Given the description of an element on the screen output the (x, y) to click on. 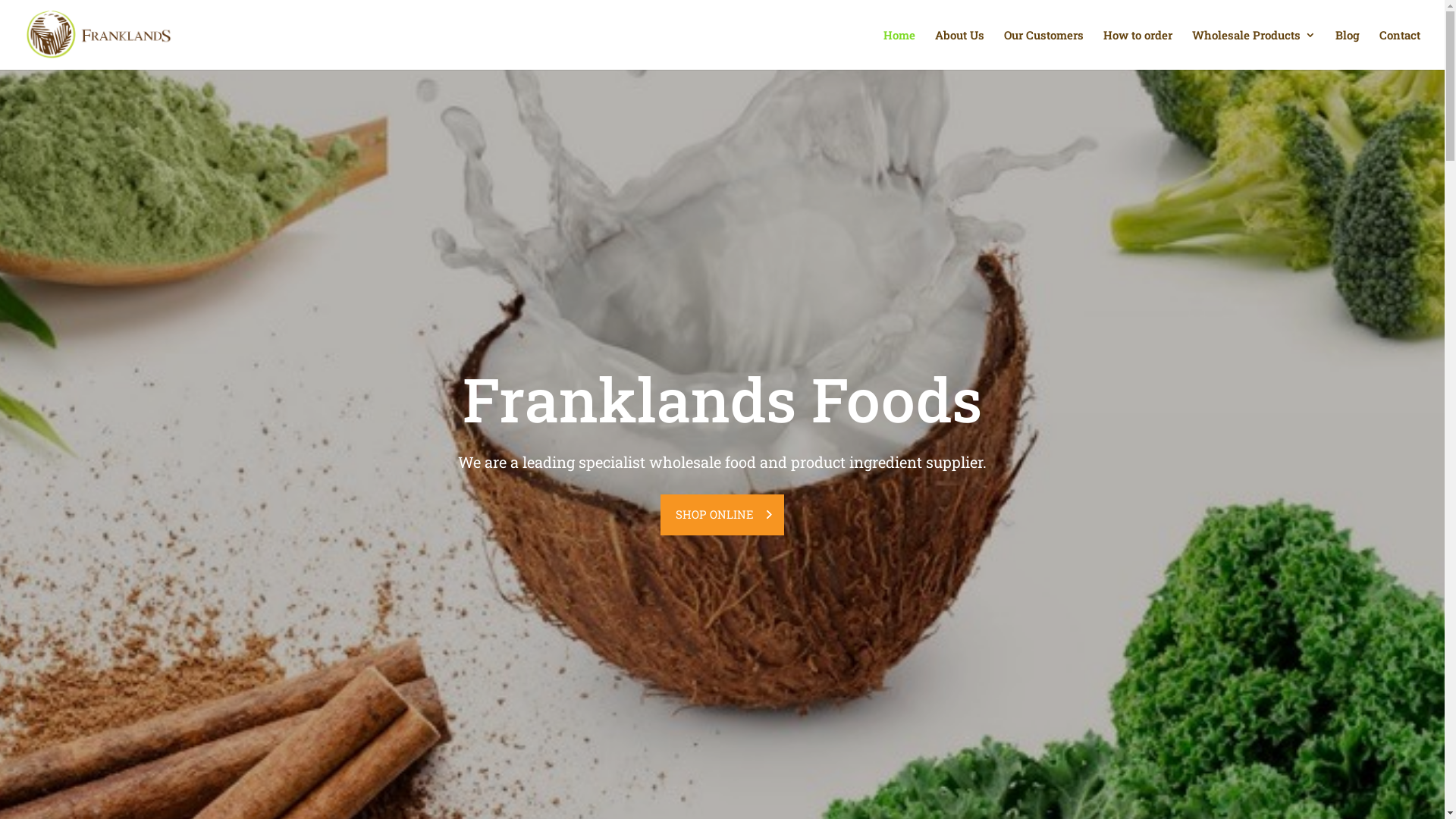
Wholesale Products Element type: text (1253, 49)
Contact Element type: text (1399, 49)
Home Element type: text (899, 49)
How to order Element type: text (1137, 49)
SHOP ONLINE Element type: text (722, 515)
Our Customers Element type: text (1043, 49)
About Us Element type: text (959, 49)
Blog Element type: text (1347, 49)
